Given the description of an element on the screen output the (x, y) to click on. 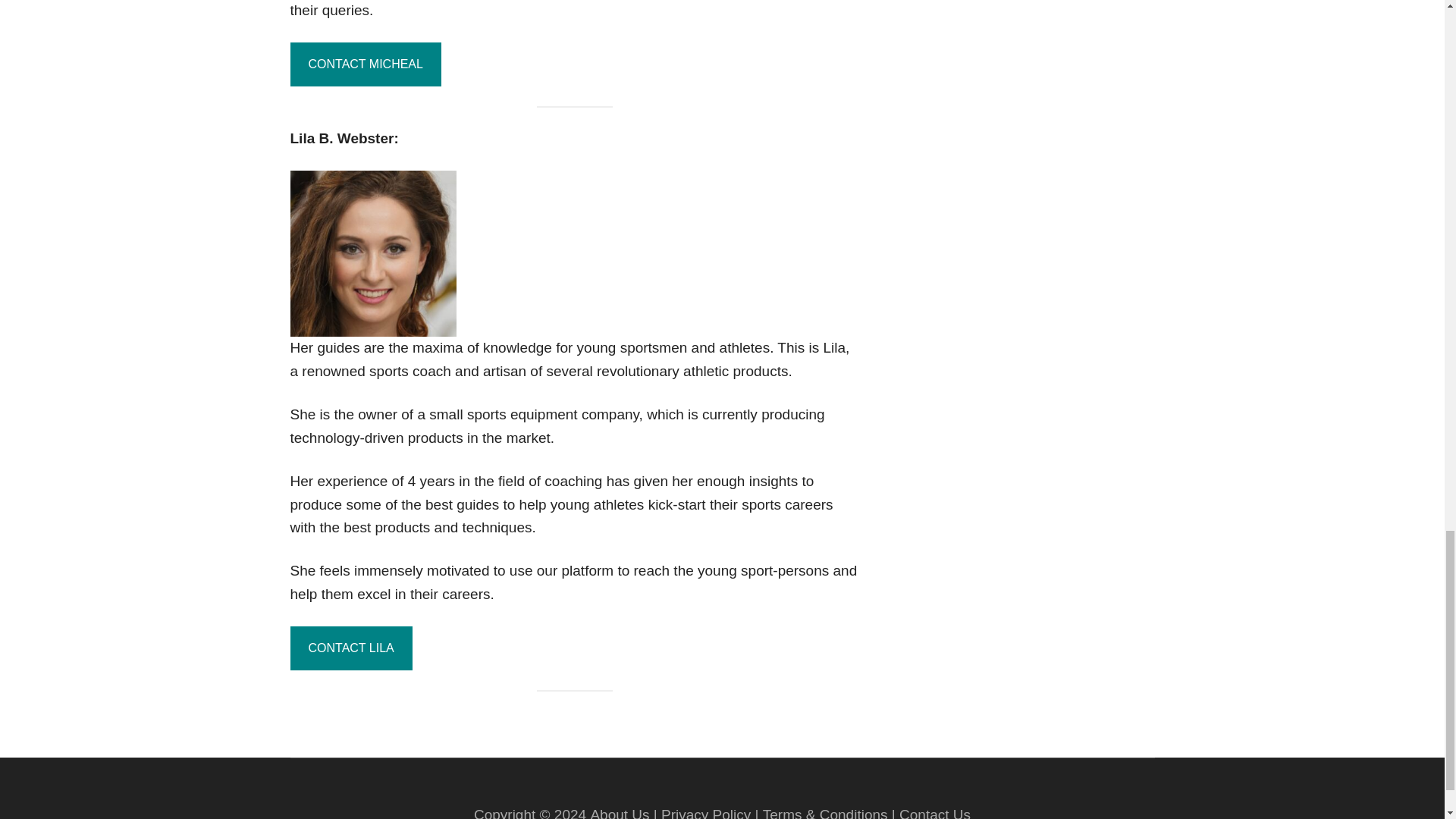
Privacy Policy (706, 812)
About Us (619, 812)
Contact Us (935, 812)
CONTACT LILA (350, 648)
CONTACT MICHEAL (365, 64)
